Given the description of an element on the screen output the (x, y) to click on. 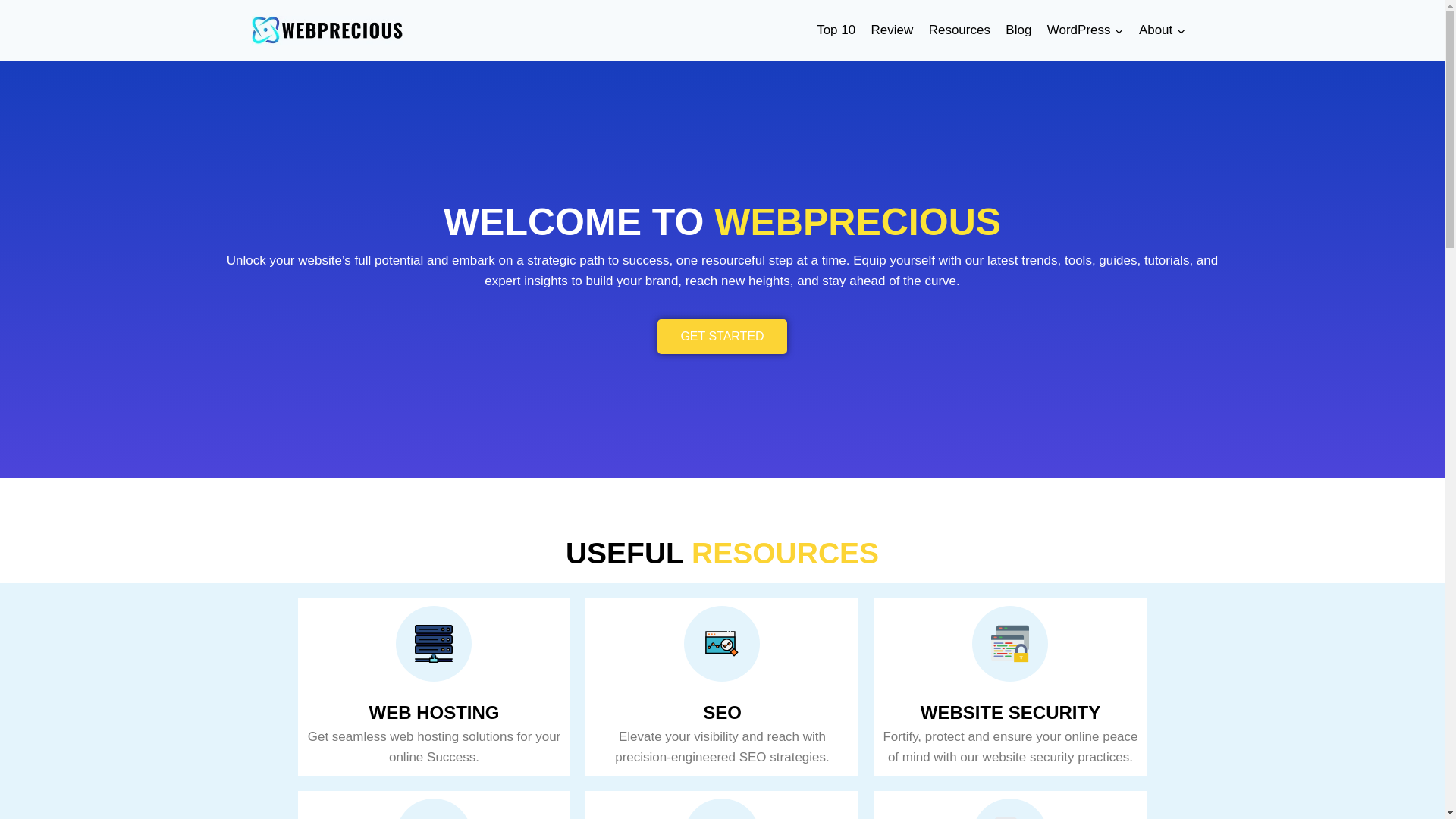
Top 10 (836, 30)
Resources (958, 30)
WEB HOSTING (433, 711)
GET STARTED (722, 336)
About (1162, 30)
Review (891, 30)
WordPress (1085, 30)
WEBSITE SECURITY (1010, 711)
SEO (722, 711)
Blog (1018, 30)
